Given the description of an element on the screen output the (x, y) to click on. 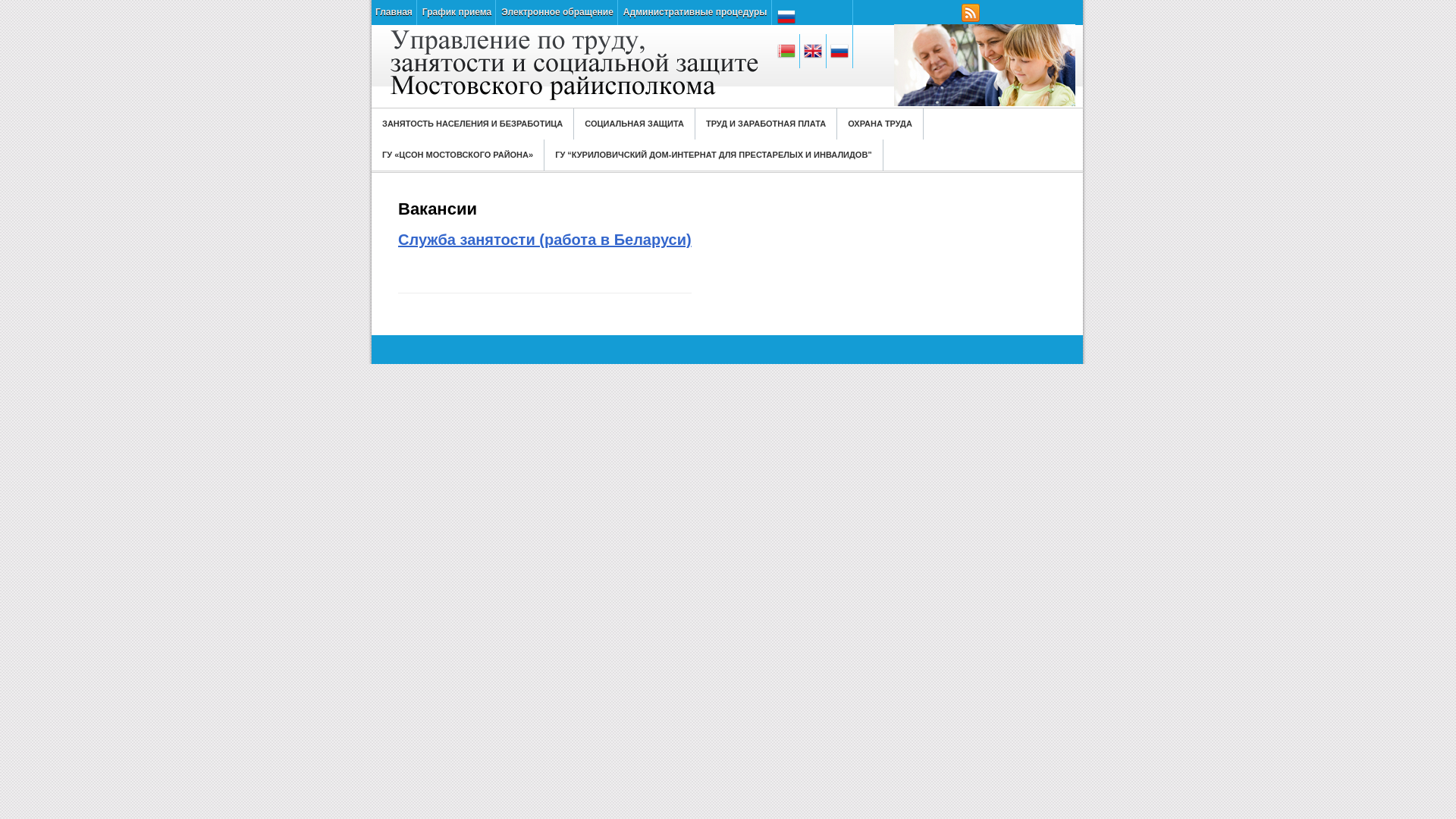
Russian Element type: hover (839, 51)
English Element type: hover (813, 51)
Russian Element type: hover (813, 17)
Belarusian Element type: hover (786, 51)
